Given the description of an element on the screen output the (x, y) to click on. 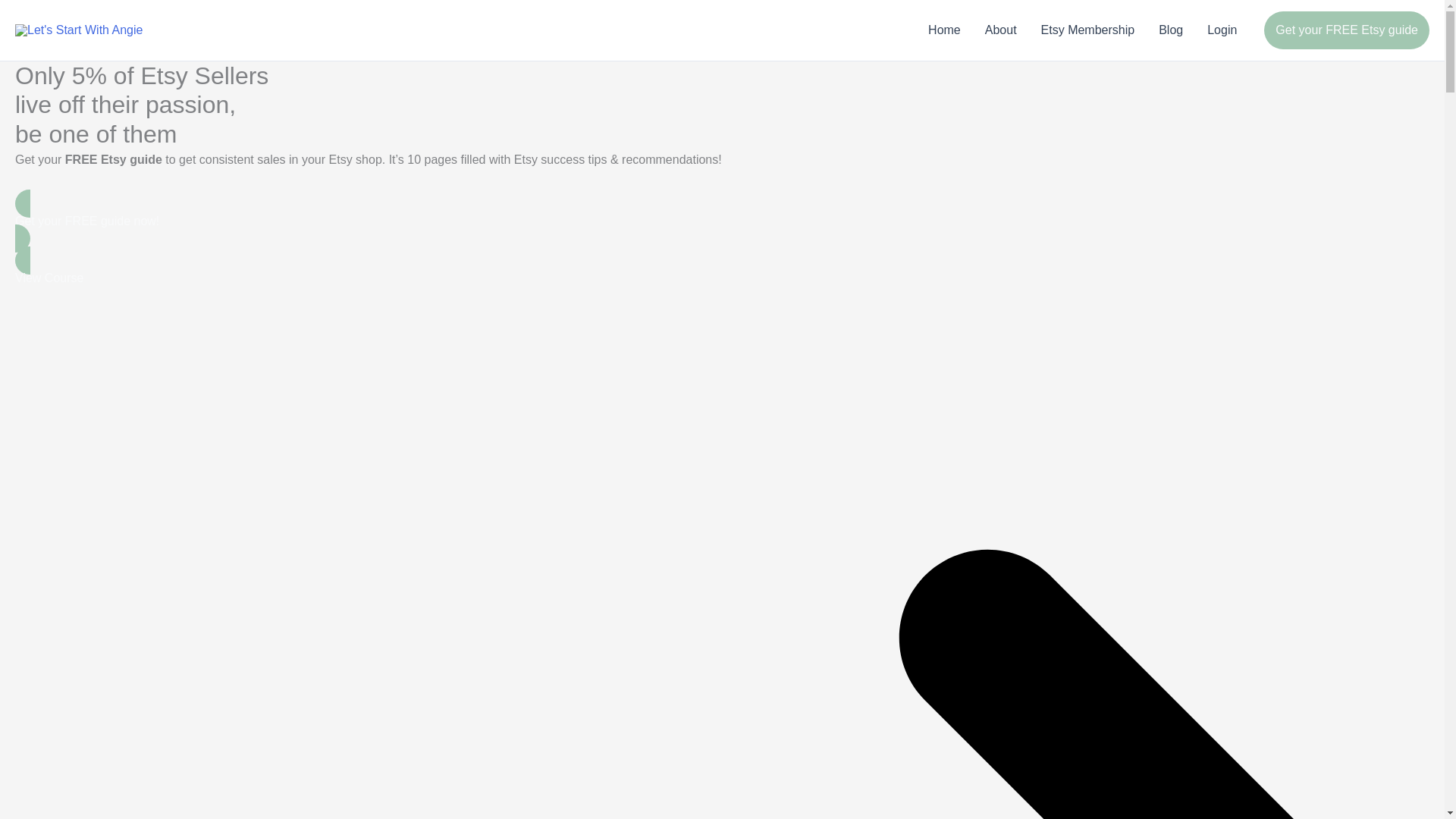
Etsy Membership (1088, 30)
Get your FREE Etsy guide (1346, 30)
About (1000, 30)
Home (943, 30)
Get your FREE guide now! (721, 220)
